Given the description of an element on the screen output the (x, y) to click on. 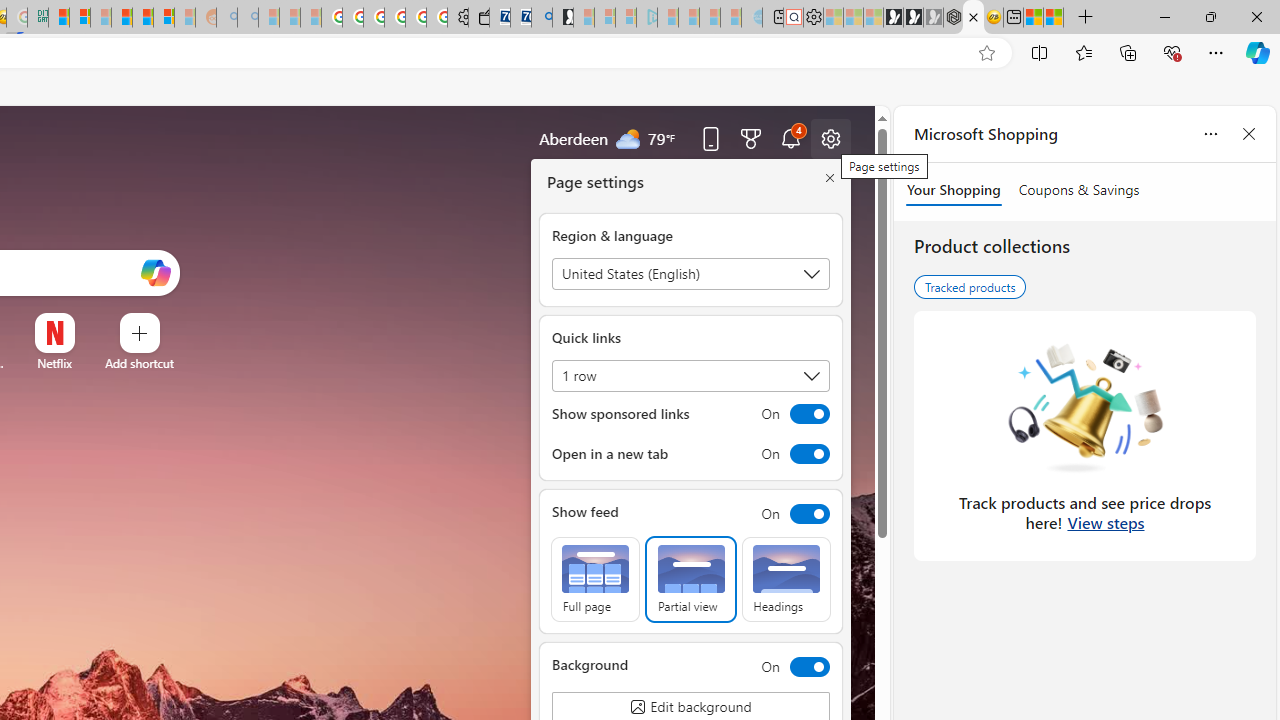
Full page (594, 579)
Region & language (690, 273)
Netflix (54, 363)
